Given the description of an element on the screen output the (x, y) to click on. 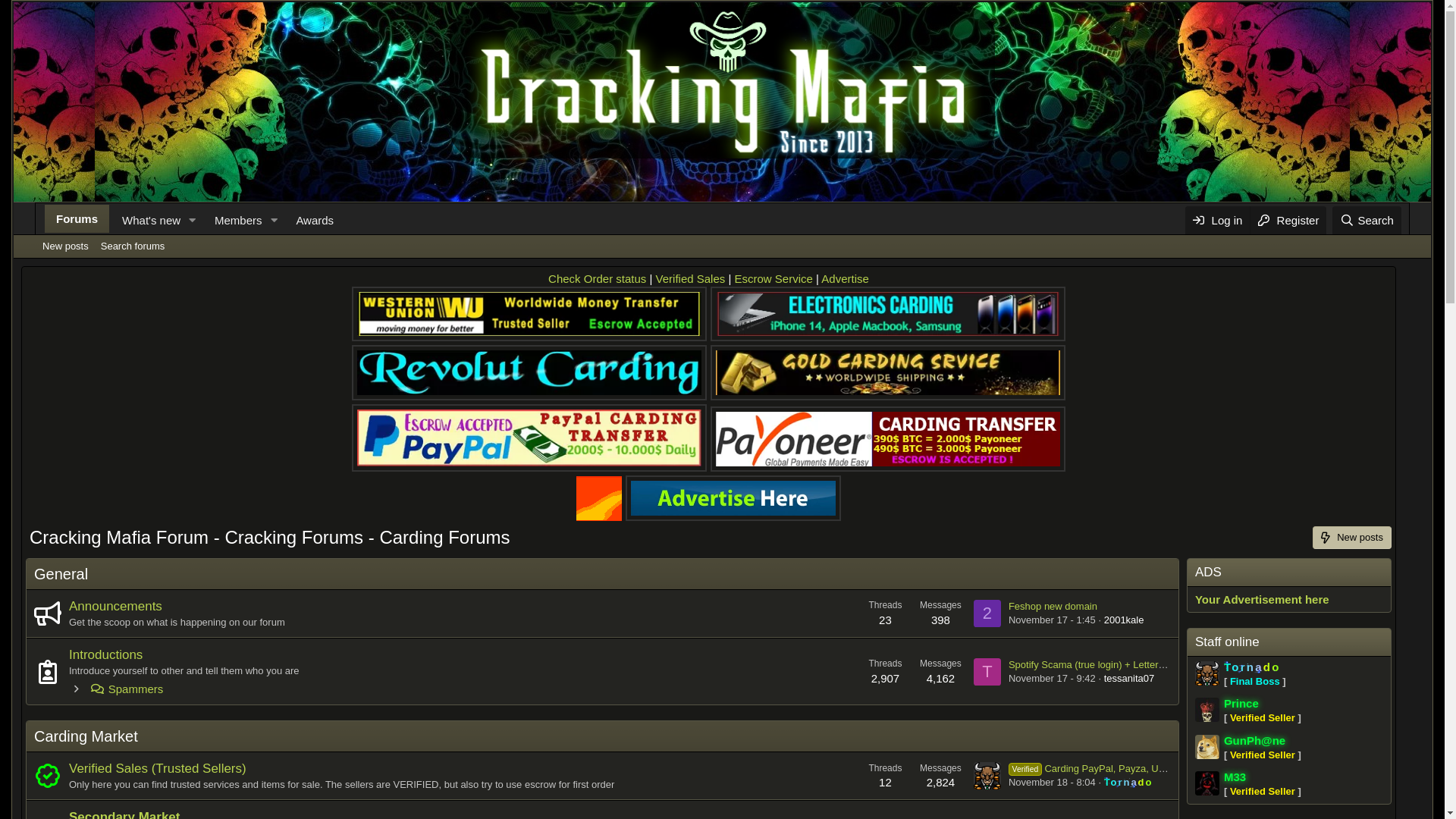
Search forums Element type: text (132, 246)
Spotify Scama (true login) + Letter inbox[ Element type: text (1097, 664)
Spammers Element type: text (116, 688)
New posts Element type: text (1351, 537)
Check Order status Element type: text (597, 278)
Awards Element type: text (314, 220)
Search Element type: text (1366, 220)
Introductions Element type: text (105, 654)
Forums Element type: text (76, 218)
What's new Element type: text (146, 220)
tessanita07 Element type: text (1129, 678)
Announcements Element type: text (115, 606)
Prince Element type: text (1240, 702)
Escrow Service Element type: text (773, 278)
Staff online Element type: text (1227, 641)
New posts Element type: text (65, 246)
Tornado Element type: text (1128, 781)
Advertise Element type: text (845, 278)
T Element type: text (987, 671)
GunPh@ne Element type: text (1254, 740)
Verified Sales Element type: text (690, 278)
2001kale Element type: text (1124, 619)
M33 Element type: text (1234, 776)
Feshop new domain Element type: text (1052, 605)
Your Advertisement here Element type: text (1262, 599)
2 Element type: text (987, 613)
Tornado Element type: text (1251, 666)
Log in Element type: text (1217, 220)
Members Element type: text (233, 220)
Carding Market Element type: text (86, 736)
Register Element type: text (1287, 220)
General Element type: text (60, 573)
Verified Sales (Trusted Sellers) Element type: text (157, 768)
